Given the description of an element on the screen output the (x, y) to click on. 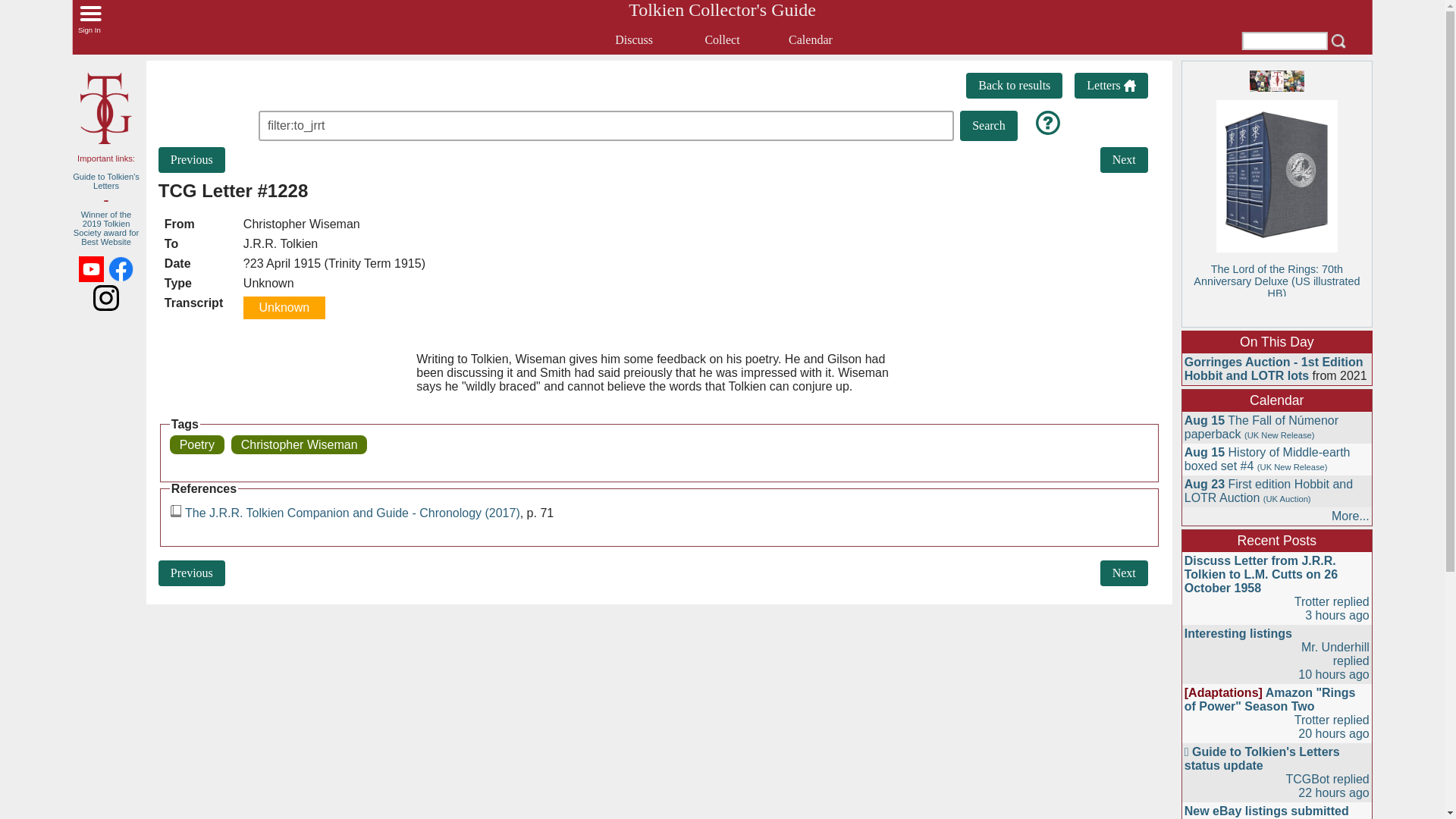
1241: G.B. Smith to J.R.R. Tolkien (1124, 159)
Back to results (1014, 85)
Winner of the 2019 Tolkien Society award for Best Website (106, 227)
Gorringes Auction - 1st Edition Hobbit and LOTR lots (1273, 368)
TolkienGuide on Facebook (120, 268)
1227: G.B. Smith to J.R.R. Tolkien (191, 159)
On This Day (1276, 341)
Previous (191, 573)
Letters (1110, 85)
Next (1124, 159)
